Given the description of an element on the screen output the (x, y) to click on. 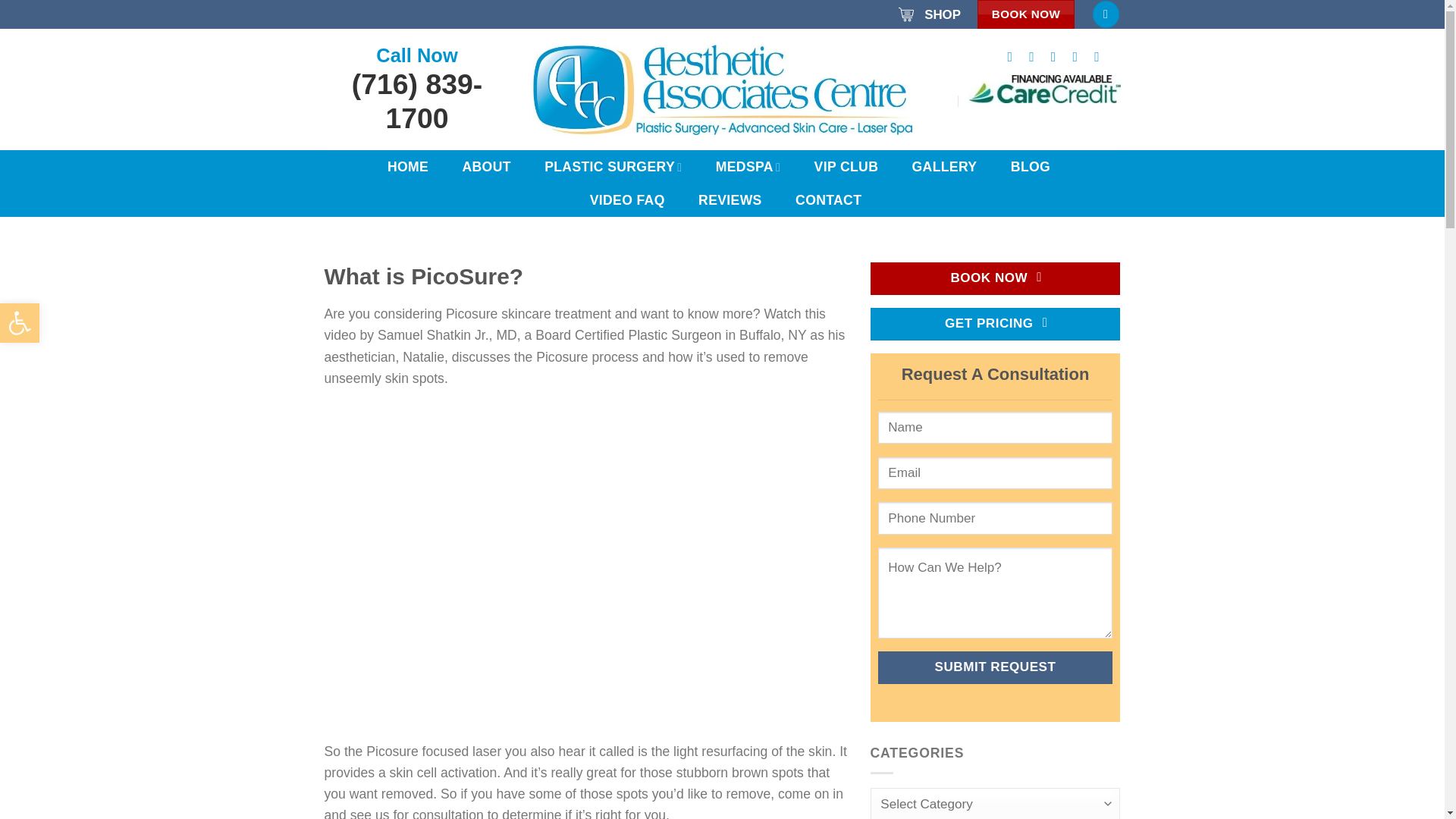
Follow on Twitter (1057, 56)
Submit Request (995, 667)
BOOK NOW (1025, 14)
Accessibility Tools (19, 323)
Send us an email (1078, 56)
PLASTIC SURGERY (613, 166)
Follow on Instagram (1035, 56)
Follow on Facebook (1013, 56)
HOME (408, 166)
ABOUT (486, 166)
